Given the description of an element on the screen output the (x, y) to click on. 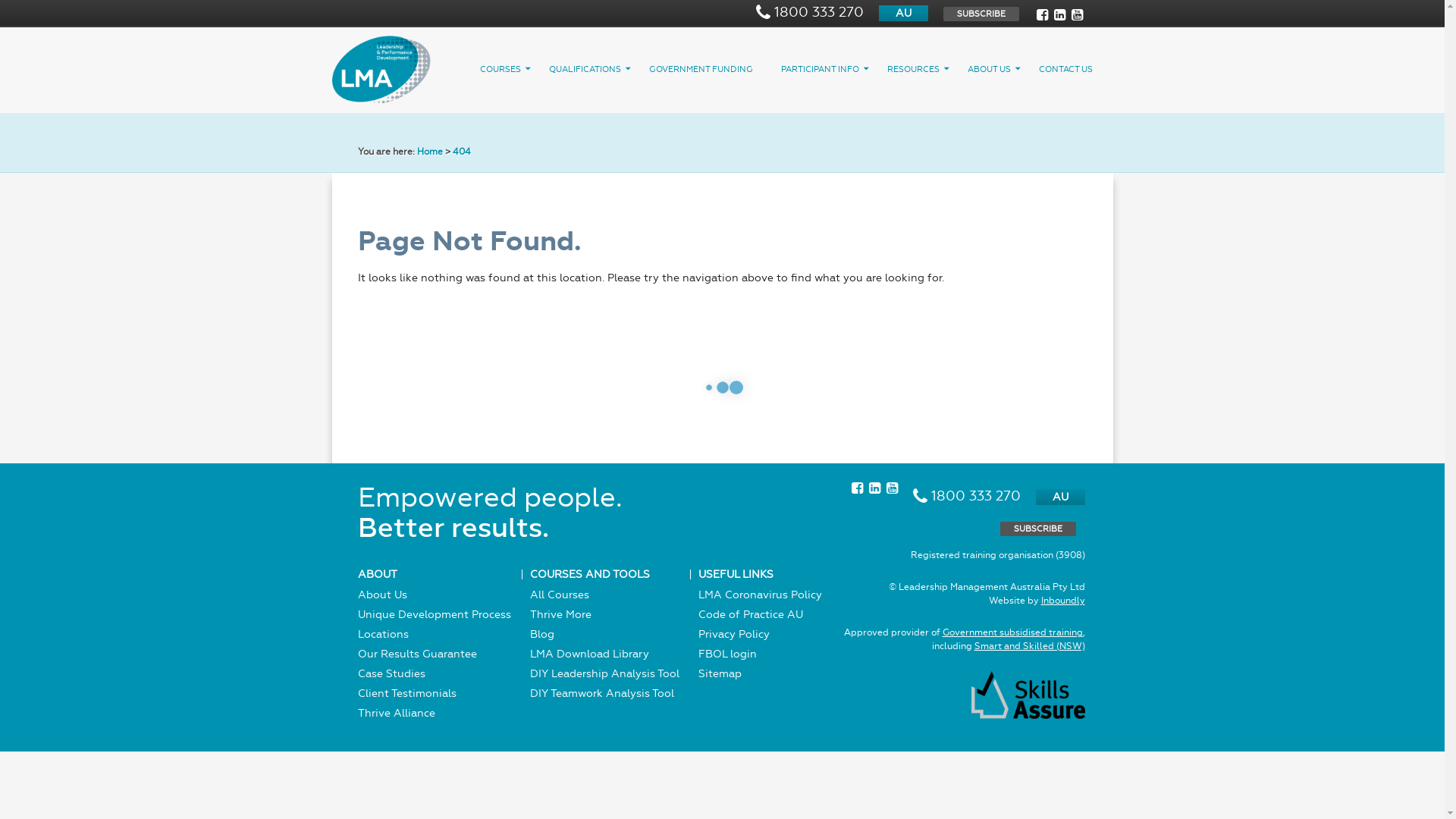
GOVERNMENT FUNDING Element type: text (707, 68)
Smart and Skilled (NSW) Element type: text (1028, 645)
Code of Practice AU Element type: text (749, 614)
AU Element type: text (902, 13)
DIY Leadership Analysis Tool Element type: text (603, 673)
Home Element type: text (429, 151)
Case Studies Element type: text (391, 673)
Government subsidised training Element type: text (1011, 632)
All Courses Element type: text (558, 594)
RESOURCES Element type: text (919, 68)
PARTICIPANT INFO Element type: text (826, 68)
ABOUT US Element type: text (995, 68)
Unique Development Process Element type: text (434, 614)
QUALIFICATIONS Element type: text (591, 68)
AU Element type: text (1060, 497)
Inboundly Element type: text (1062, 600)
Thrive Alliance Element type: text (396, 712)
Thrive More Element type: text (559, 614)
Sitemap Element type: text (718, 673)
Locations Element type: text (382, 633)
About Us Element type: text (382, 594)
DIY Teamwork Analysis Tool Element type: text (601, 693)
CONTACT US Element type: text (1072, 68)
LMA Element type: text (381, 70)
SUBSCRIBE Element type: text (1037, 528)
LMA Download Library Element type: text (588, 653)
Blog Element type: text (541, 633)
Our Results Guarantee Element type: text (416, 653)
Privacy Policy Element type: text (732, 633)
SUBSCRIBE Element type: text (981, 13)
COURSES Element type: text (505, 68)
LMA Coronavirus Policy Element type: text (759, 594)
FBOL login Element type: text (726, 653)
Client Testimonials Element type: text (406, 693)
